Given the description of an element on the screen output the (x, y) to click on. 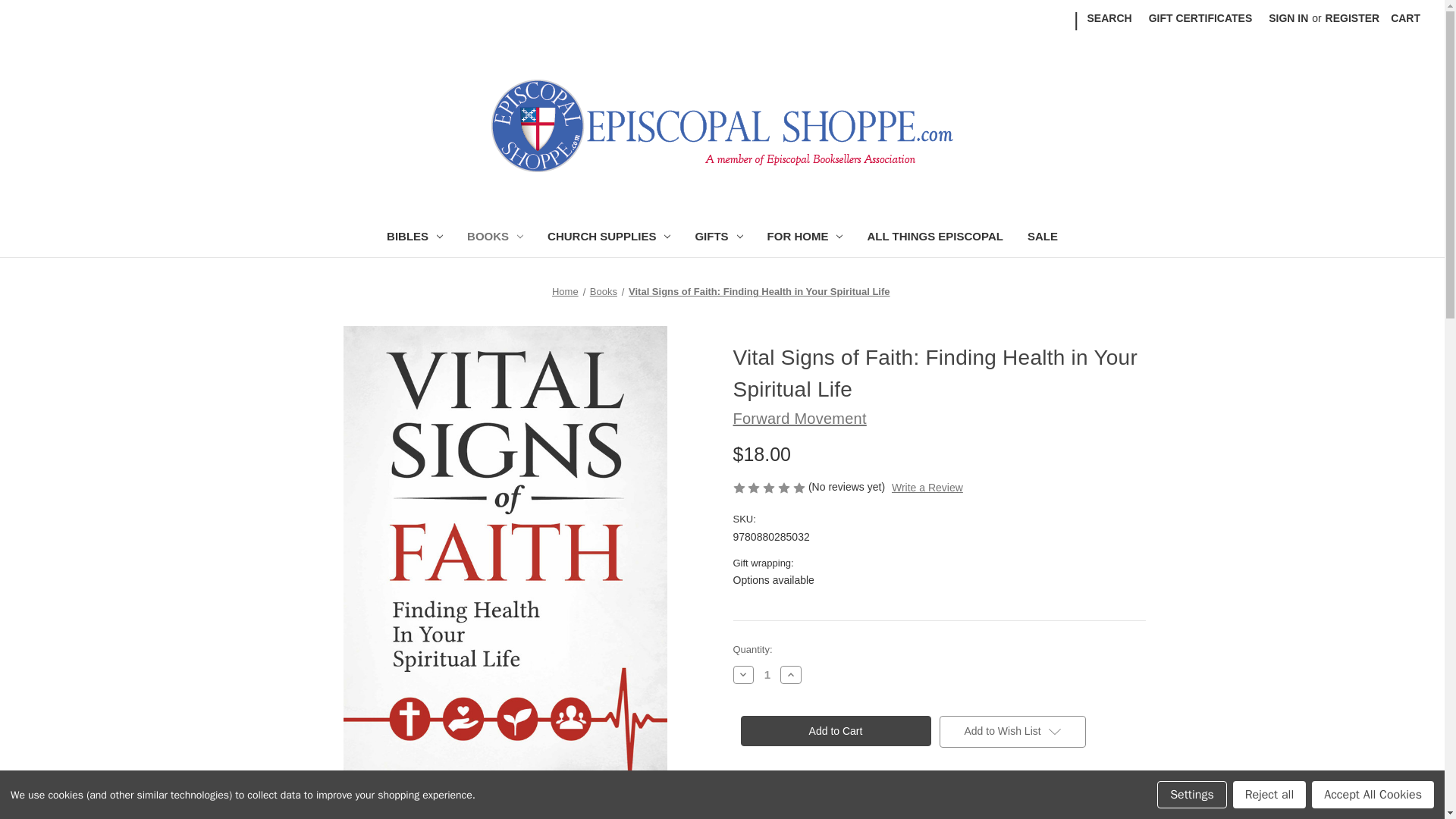
GIFT CERTIFICATES (1200, 18)
CART (1404, 18)
Episcopal Shoppe (722, 125)
Add to Cart (834, 730)
BOOKS (494, 238)
BIBLES (414, 238)
SEARCH (1109, 18)
REGISTER (1353, 18)
SIGN IN (1288, 18)
1 (767, 674)
